Given the description of an element on the screen output the (x, y) to click on. 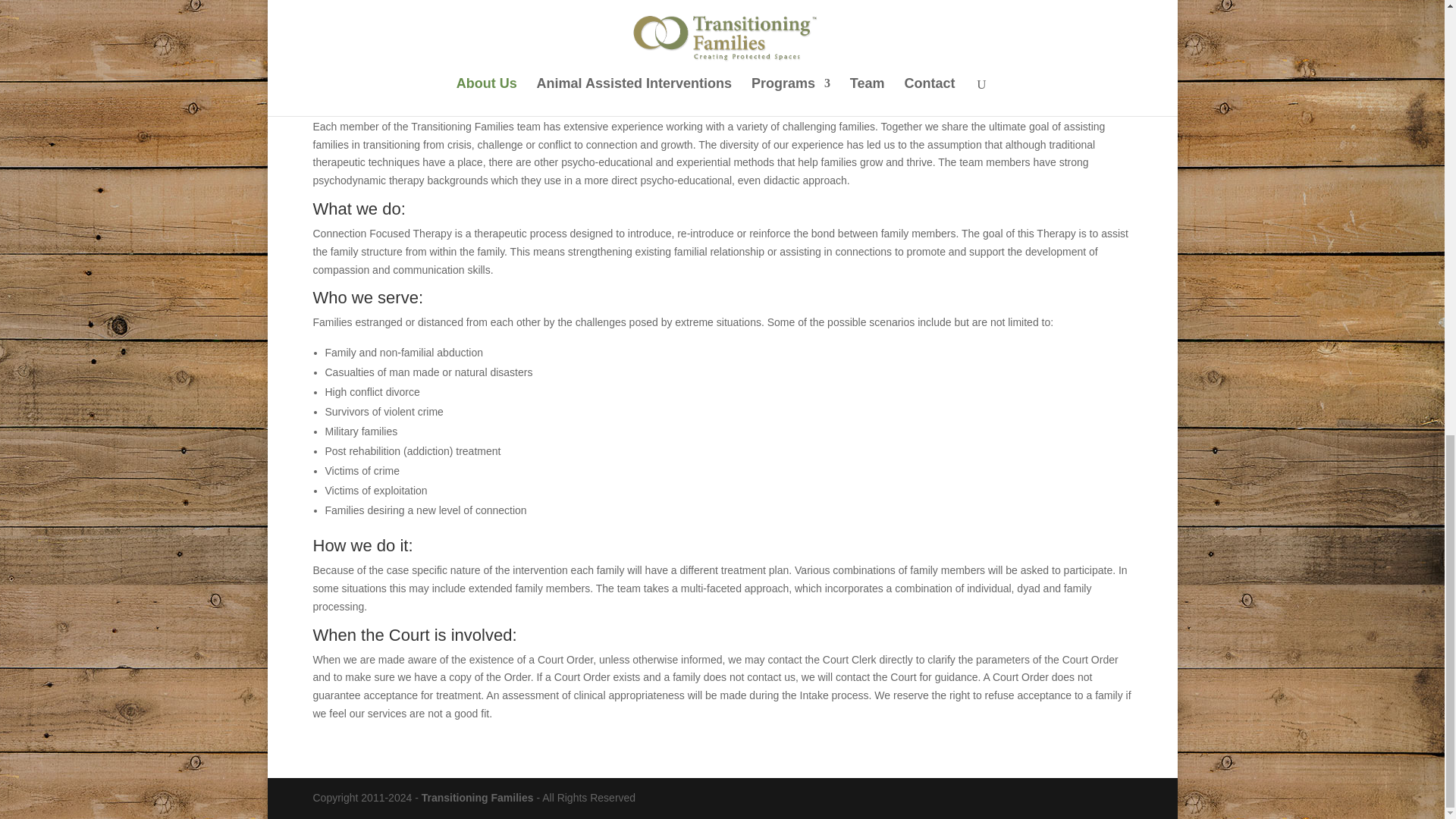
Transitioning Families (478, 797)
